Given the description of an element on the screen output the (x, y) to click on. 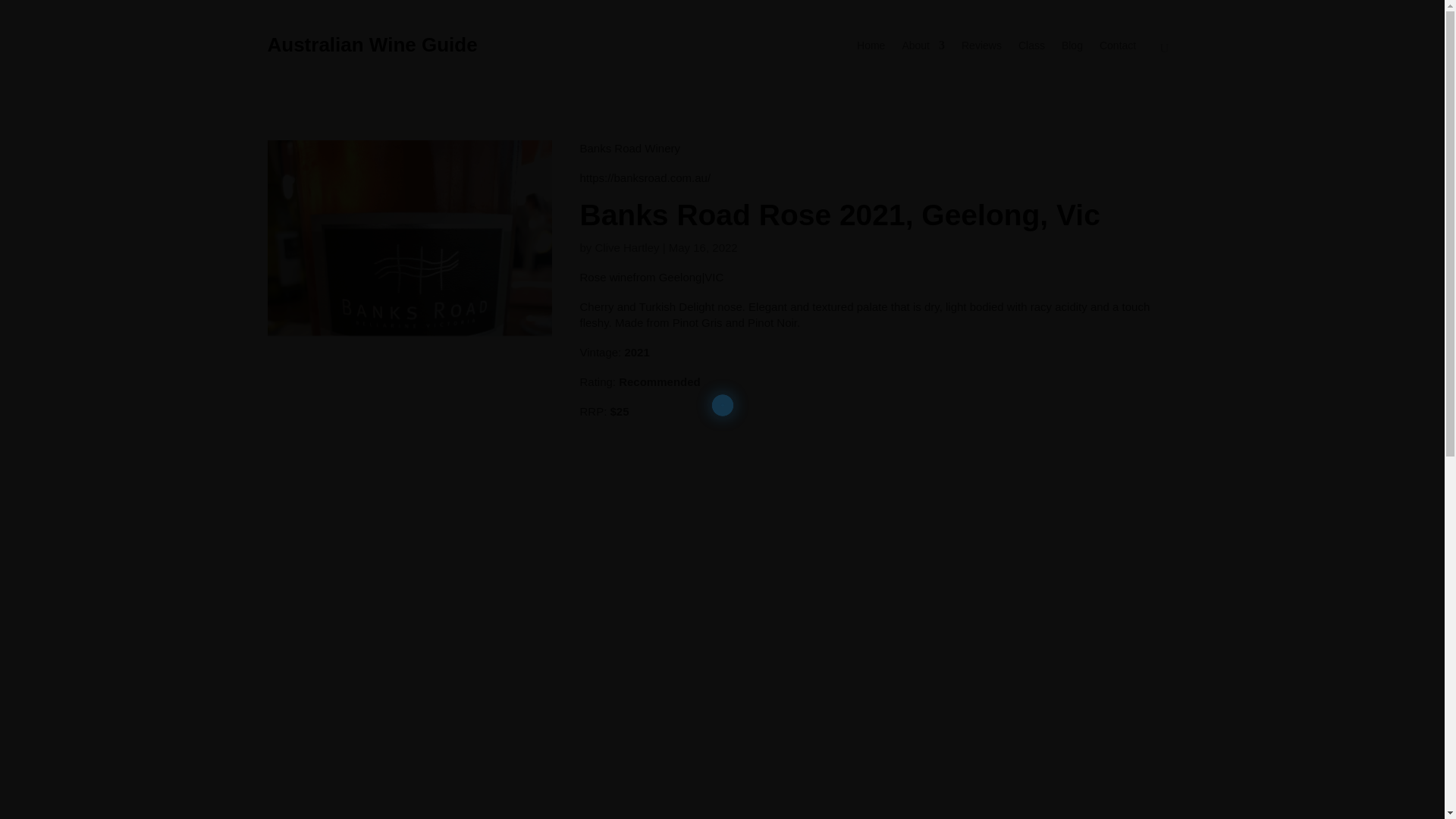
About (922, 48)
Contact (1117, 56)
Posts by Clive Hartley (626, 246)
Reviews (980, 56)
Clive Hartley (626, 246)
